Given the description of an element on the screen output the (x, y) to click on. 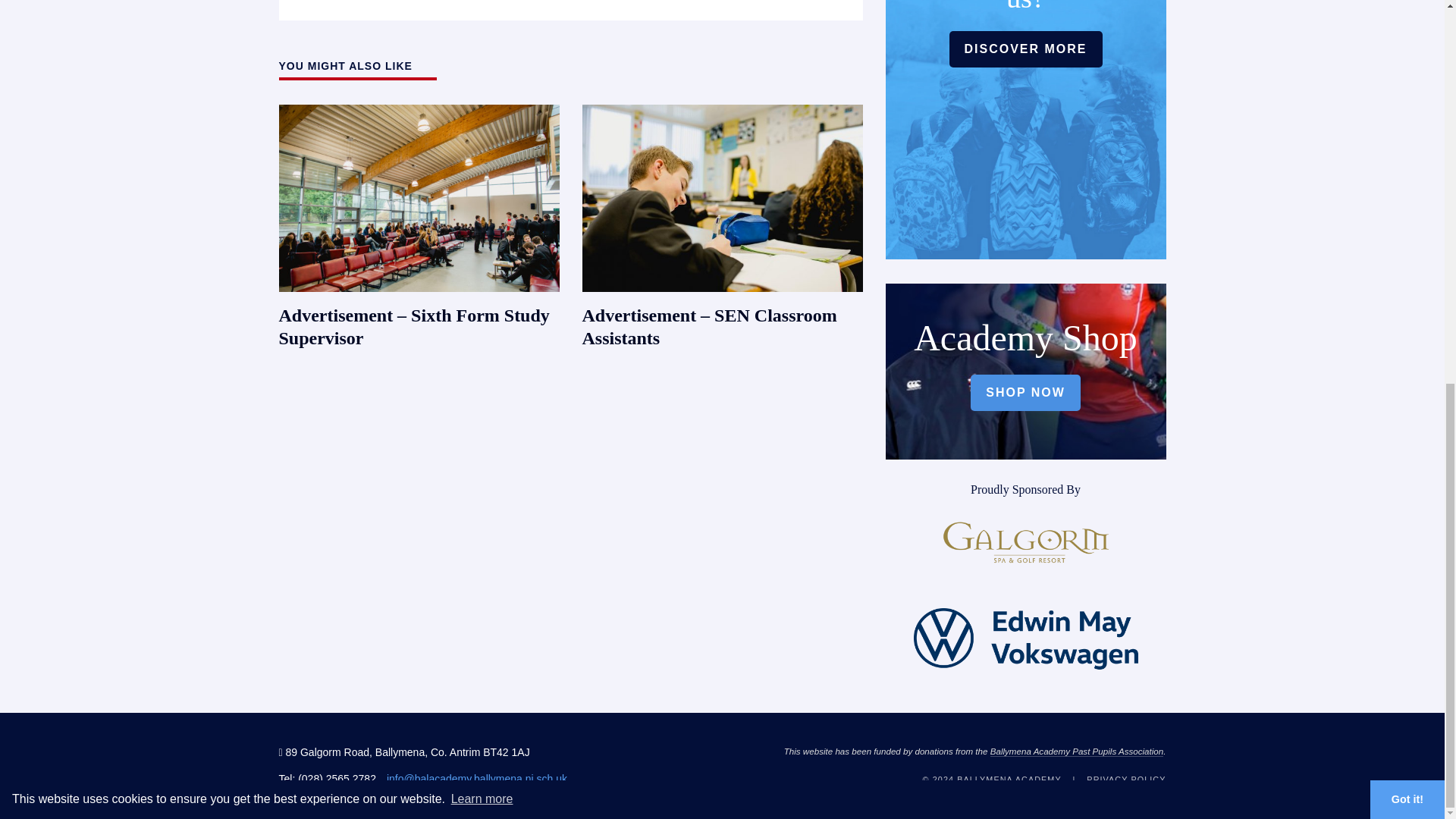
Learn more (481, 80)
